Given the description of an element on the screen output the (x, y) to click on. 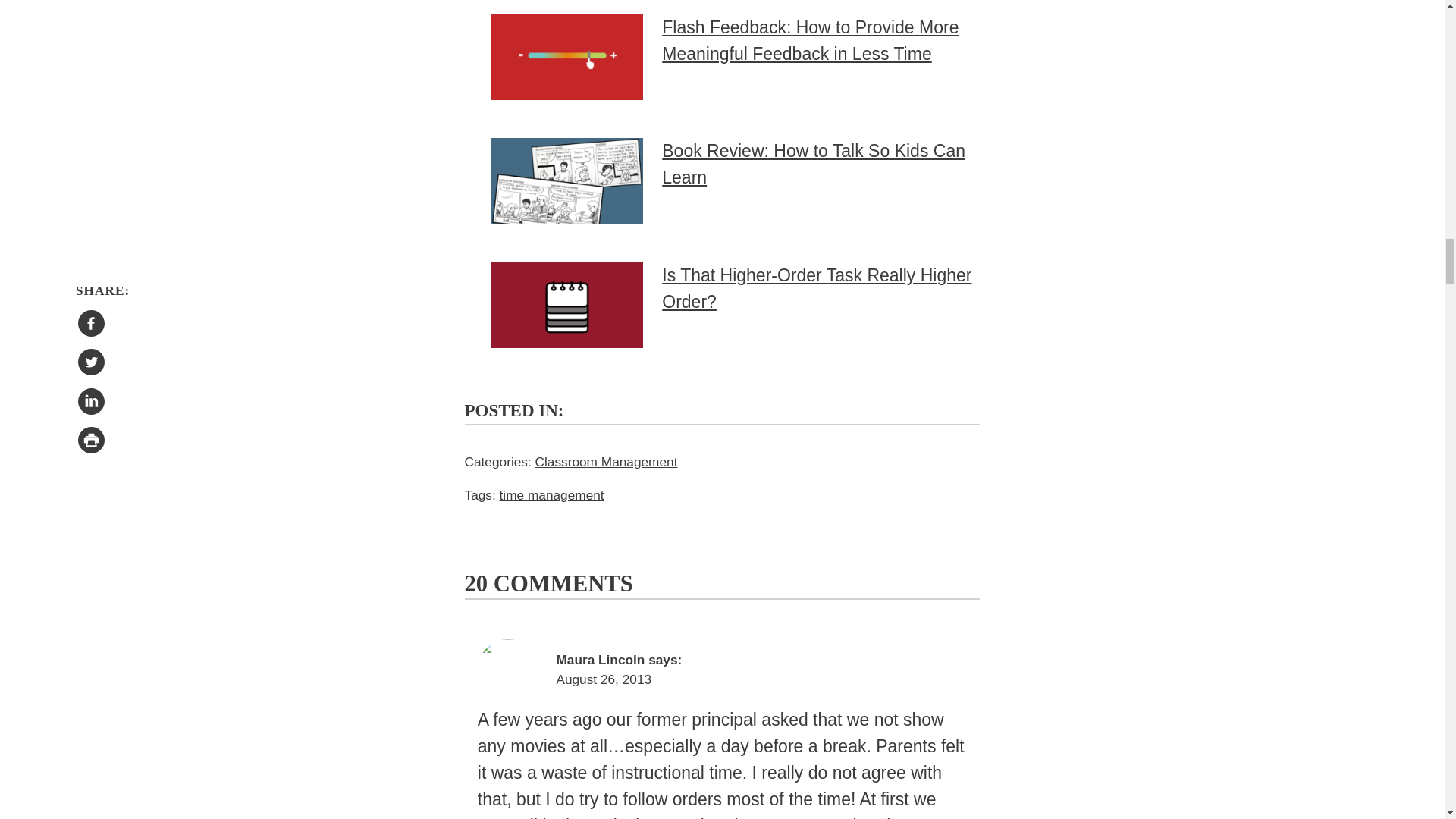
Is That Higher-Order Task Really Higher Order? (816, 288)
August 26, 2013 (603, 679)
time management (551, 494)
Maura Lincoln (600, 659)
Book Review: How to Talk So Kids Can Learn (813, 163)
Classroom Management (606, 461)
